Given the description of an element on the screen output the (x, y) to click on. 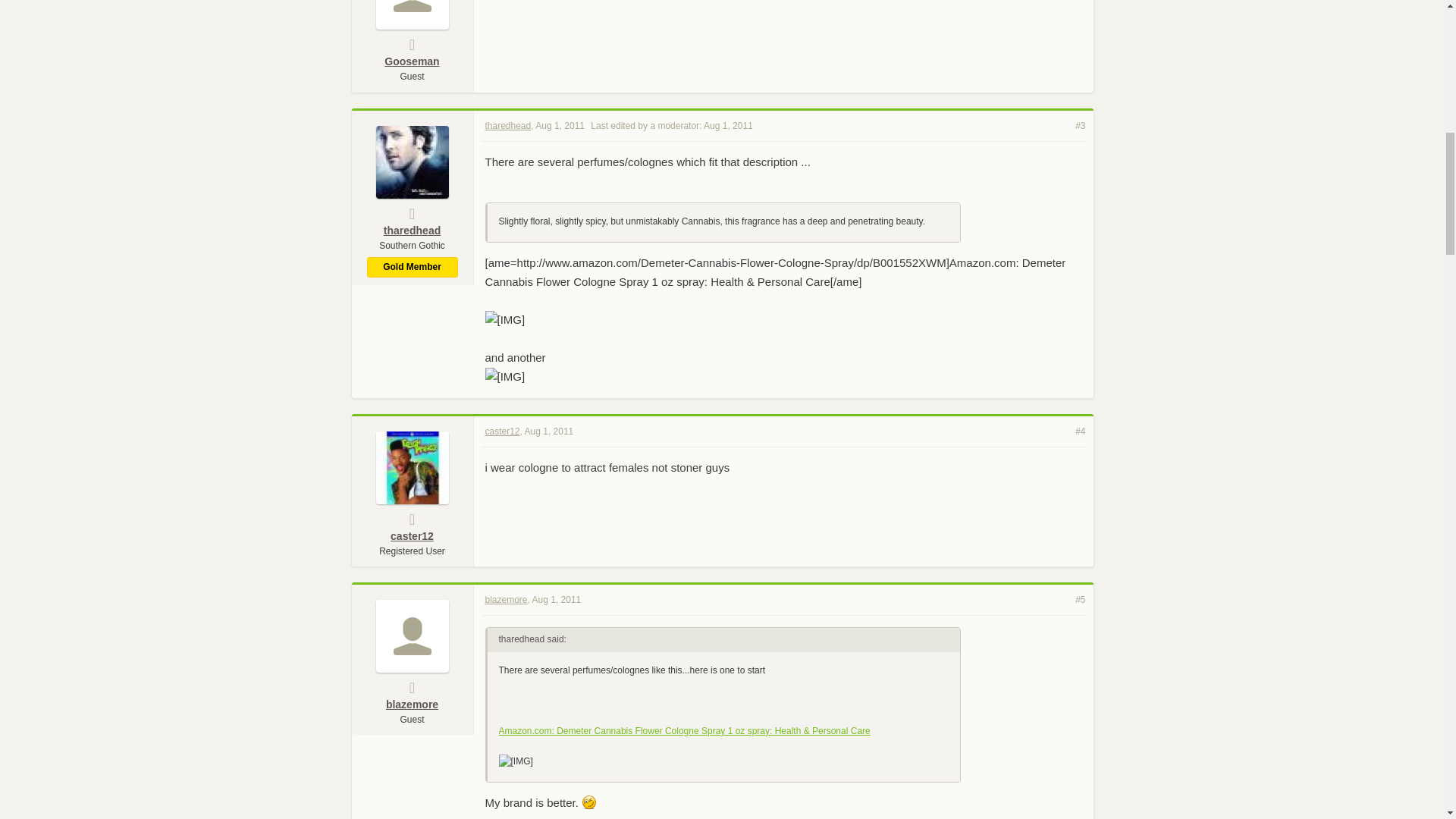
Permalink (560, 125)
Permalink (1079, 125)
